Given the description of an element on the screen output the (x, y) to click on. 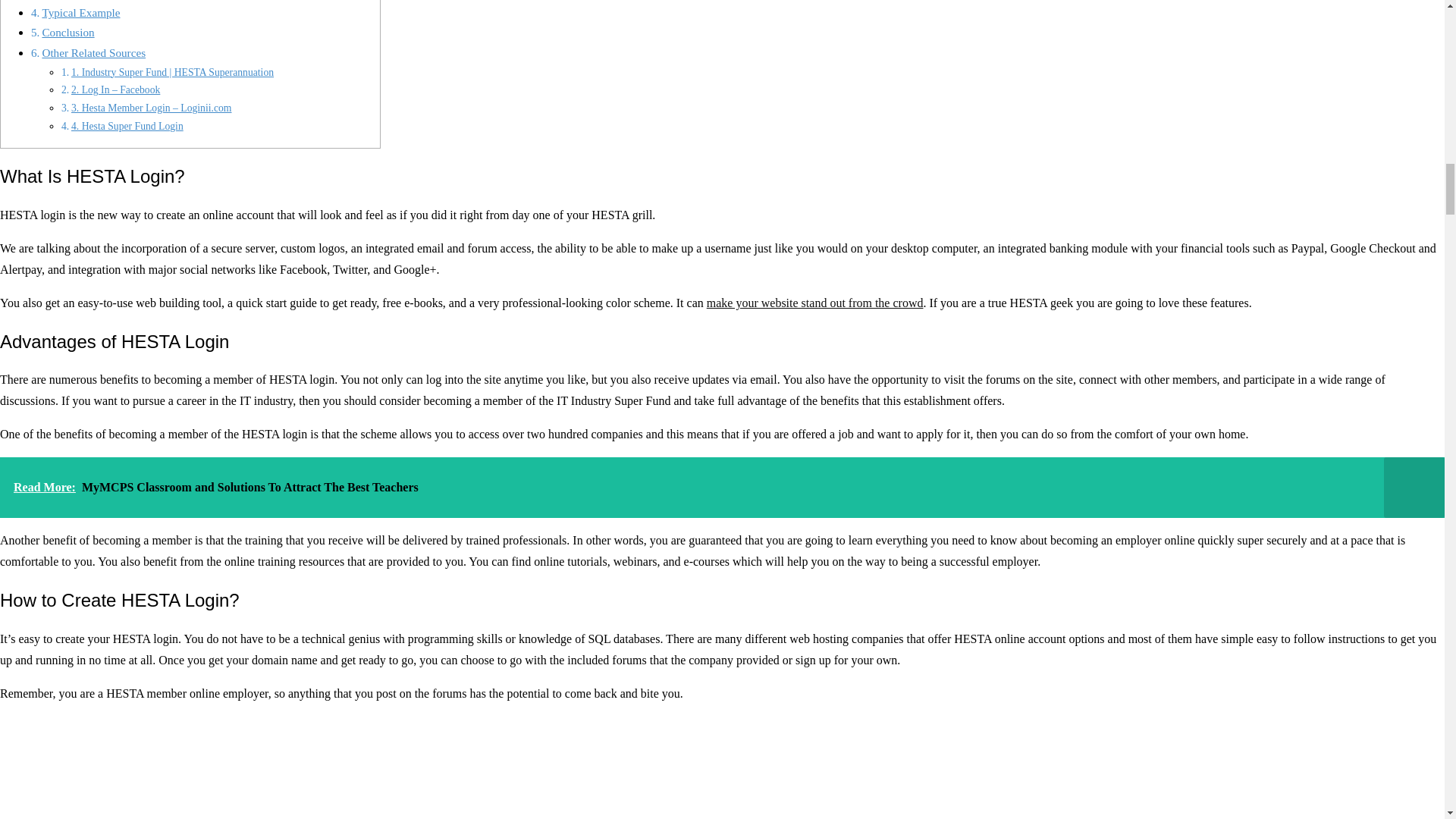
4. Hesta Super Fund Login (127, 125)
Conclusion (68, 31)
Other Related Sources (93, 51)
Other Related Sources (93, 51)
Typical Example (80, 11)
Conclusion (68, 31)
Typical Example (80, 11)
